Given the description of an element on the screen output the (x, y) to click on. 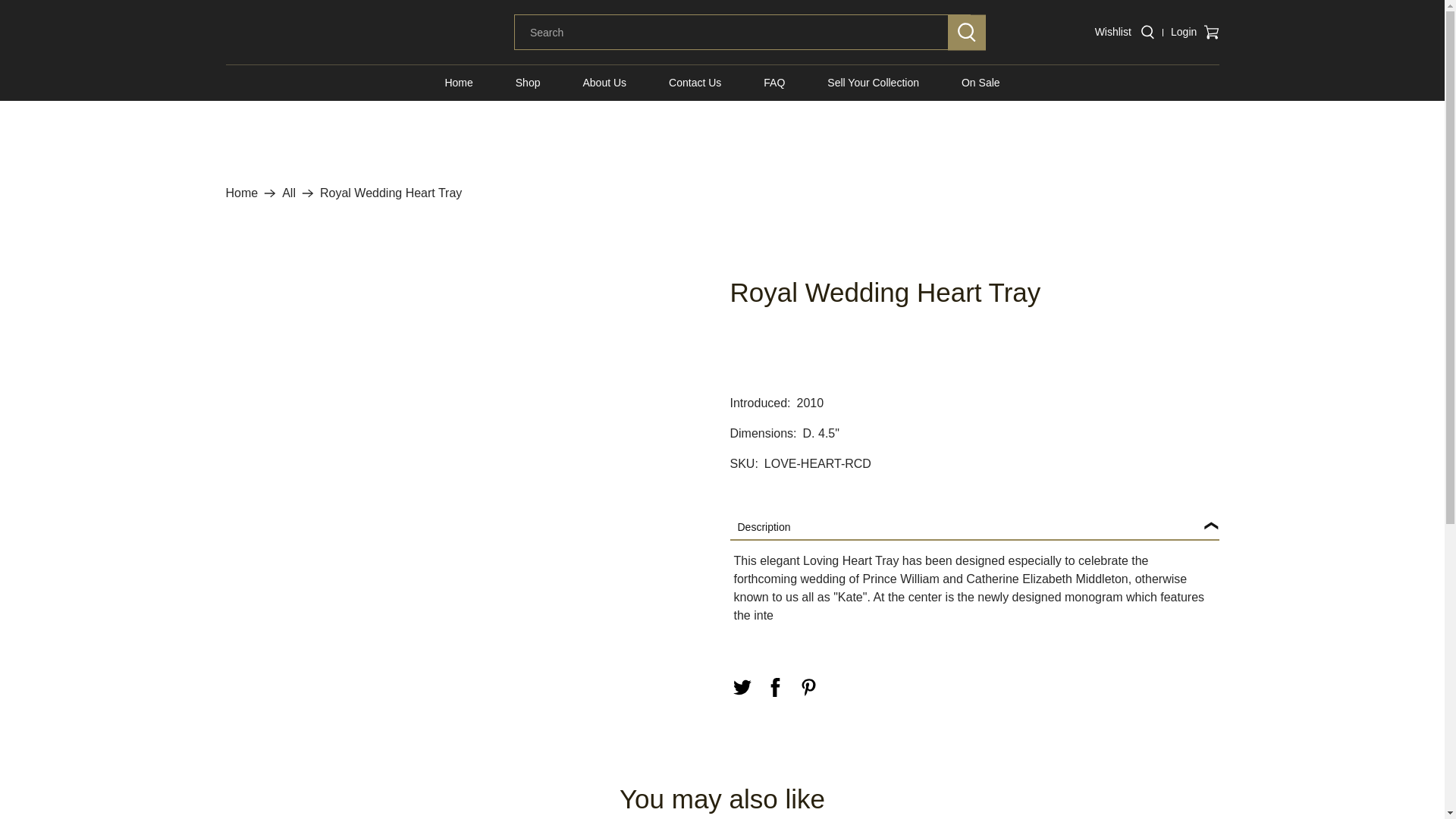
pascoeandcompany (310, 33)
Sell Your Collection (873, 82)
Share this on Facebook (774, 687)
Home (458, 82)
Contact Us (694, 82)
Share this on Pinterest (808, 687)
pascoeandcompany (242, 193)
About Us (603, 82)
FAQ (774, 82)
Wishlist (1113, 31)
